Given the description of an element on the screen output the (x, y) to click on. 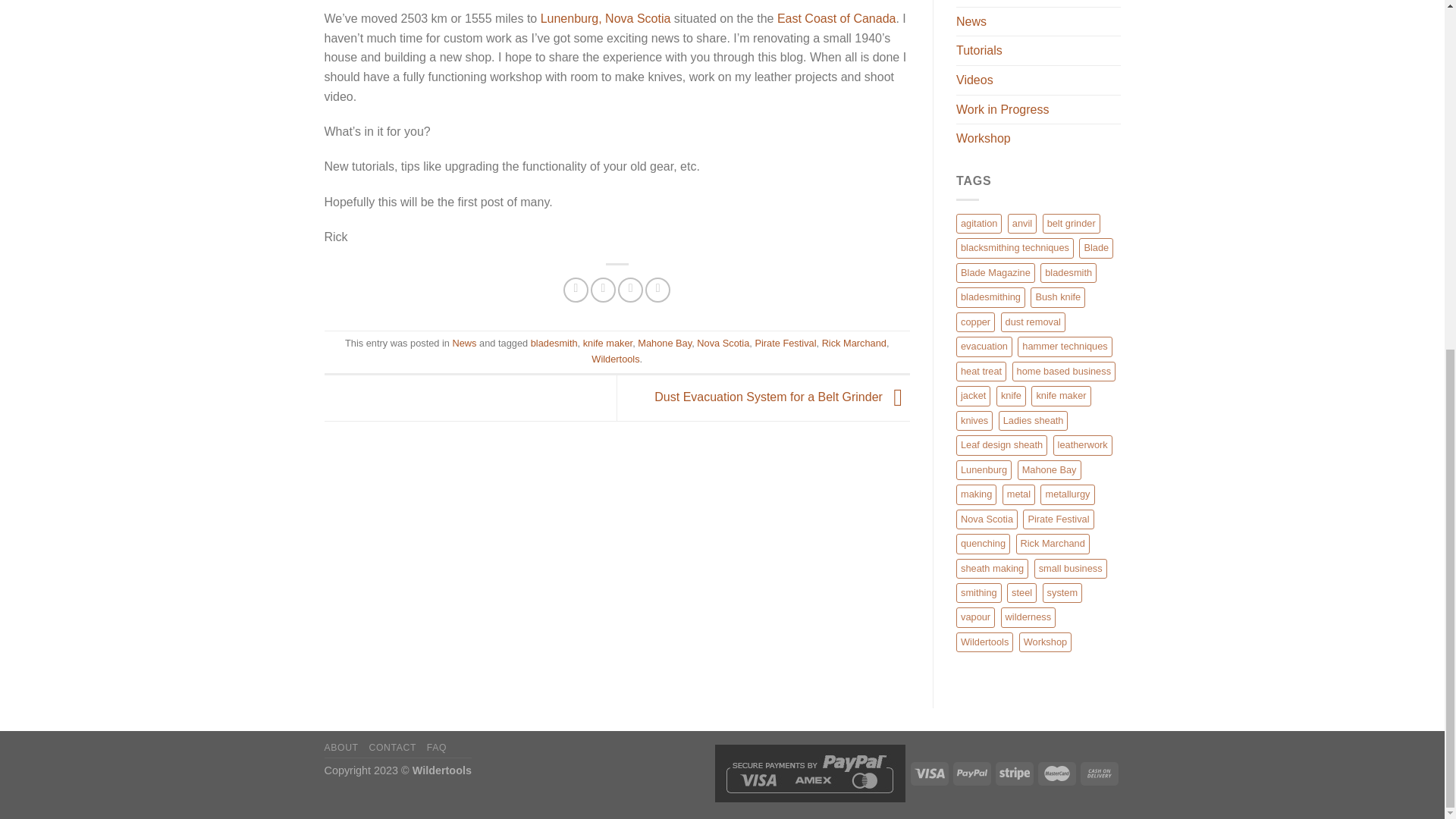
Pin on Pinterest (657, 289)
Share on Facebook (575, 289)
Lunenburg: Where something old leads to something new (605, 18)
Email to a Friend (630, 289)
How PayPal Works (809, 772)
Share on Twitter (603, 289)
